Given the description of an element on the screen output the (x, y) to click on. 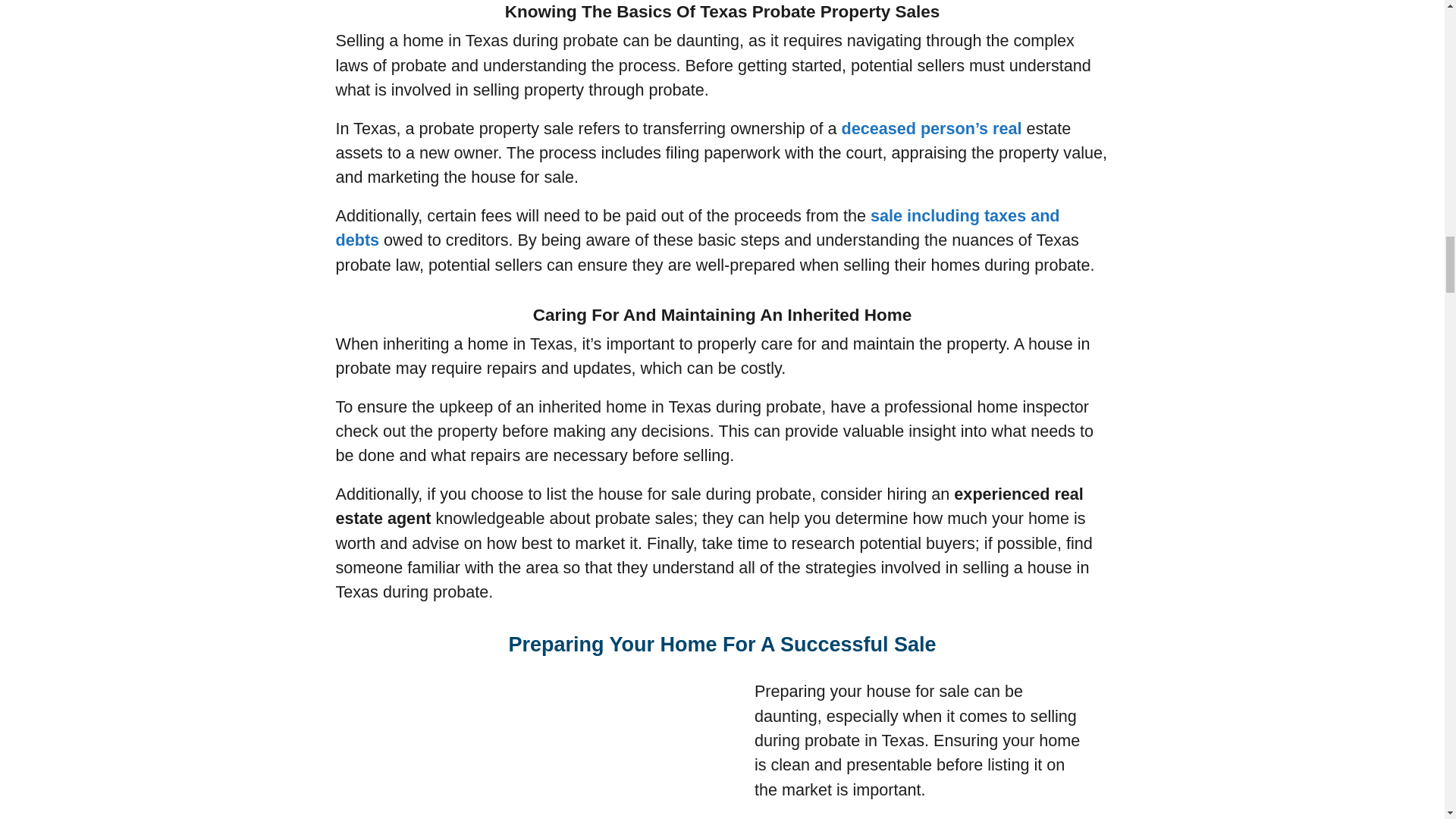
sale including taxes and debts (696, 227)
